Given the description of an element on the screen output the (x, y) to click on. 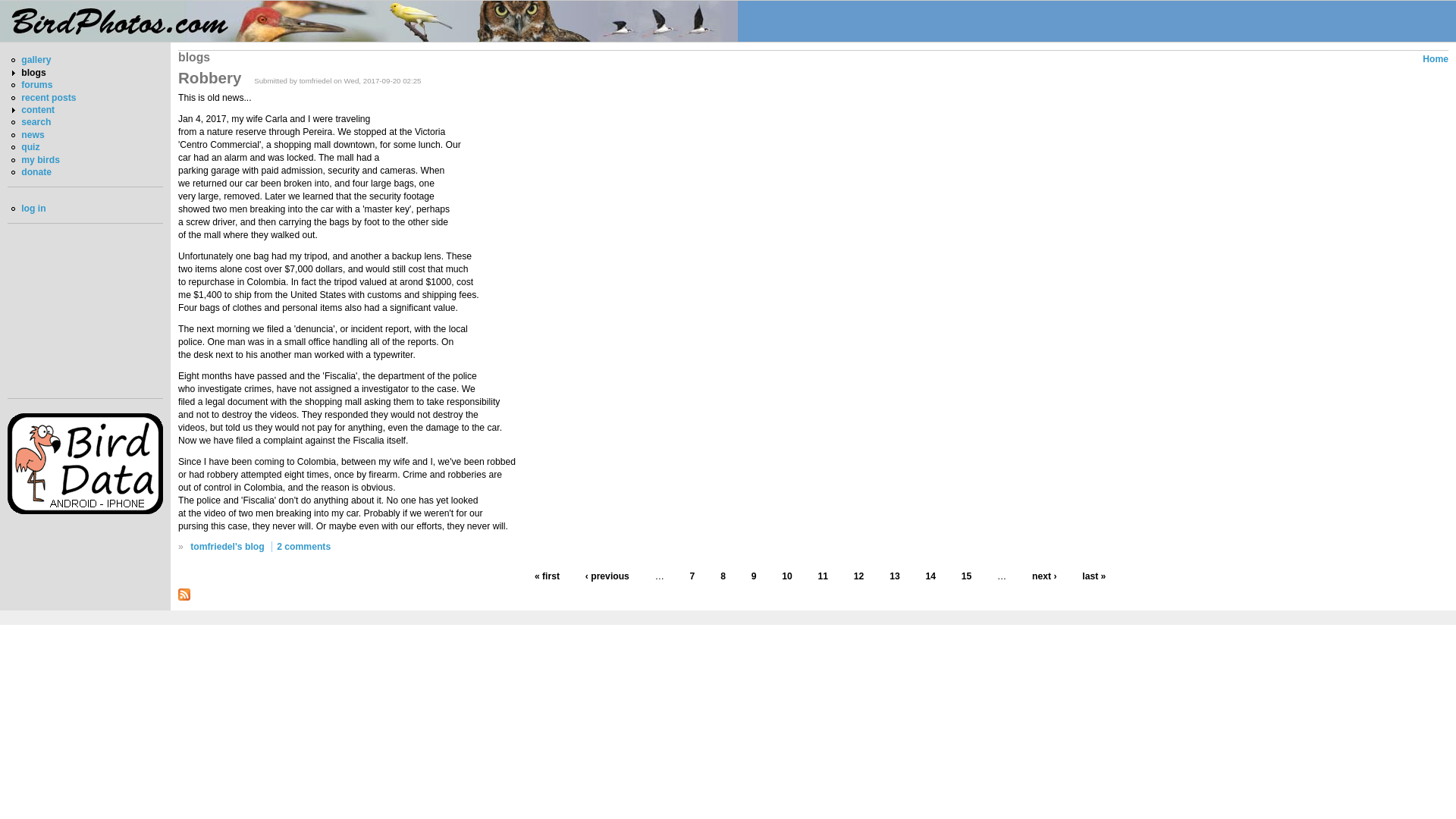
Forums (36, 84)
15 (966, 575)
12 (858, 575)
search (35, 122)
Bird Identification Quiz (30, 146)
recent posts (48, 97)
news (32, 134)
10 (786, 575)
blogs (33, 72)
quiz (30, 146)
